Given the description of an element on the screen output the (x, y) to click on. 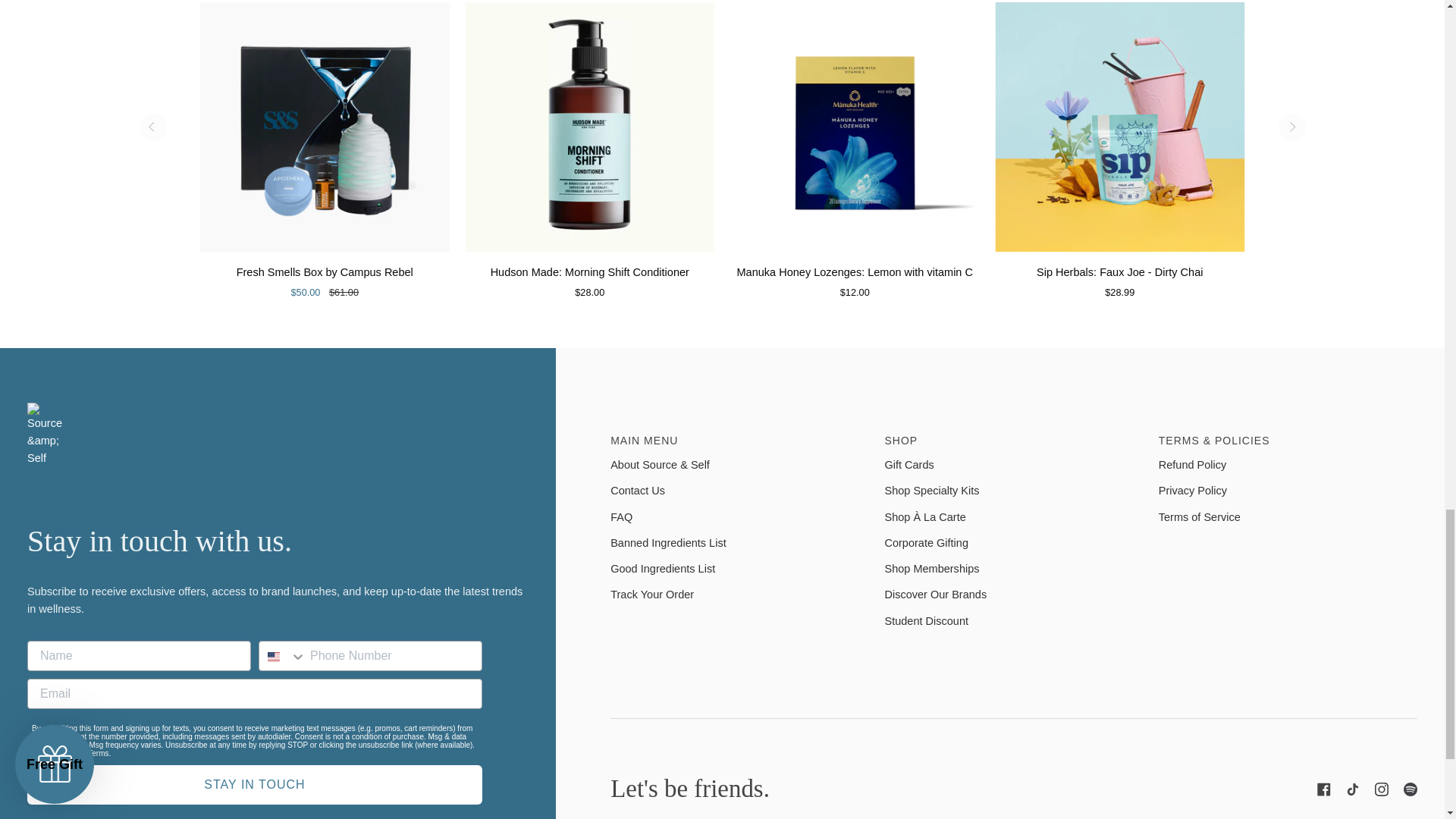
Facebook (1323, 789)
Instagram (1381, 789)
United States (273, 656)
Tiktok (1352, 789)
